Given the description of an element on the screen output the (x, y) to click on. 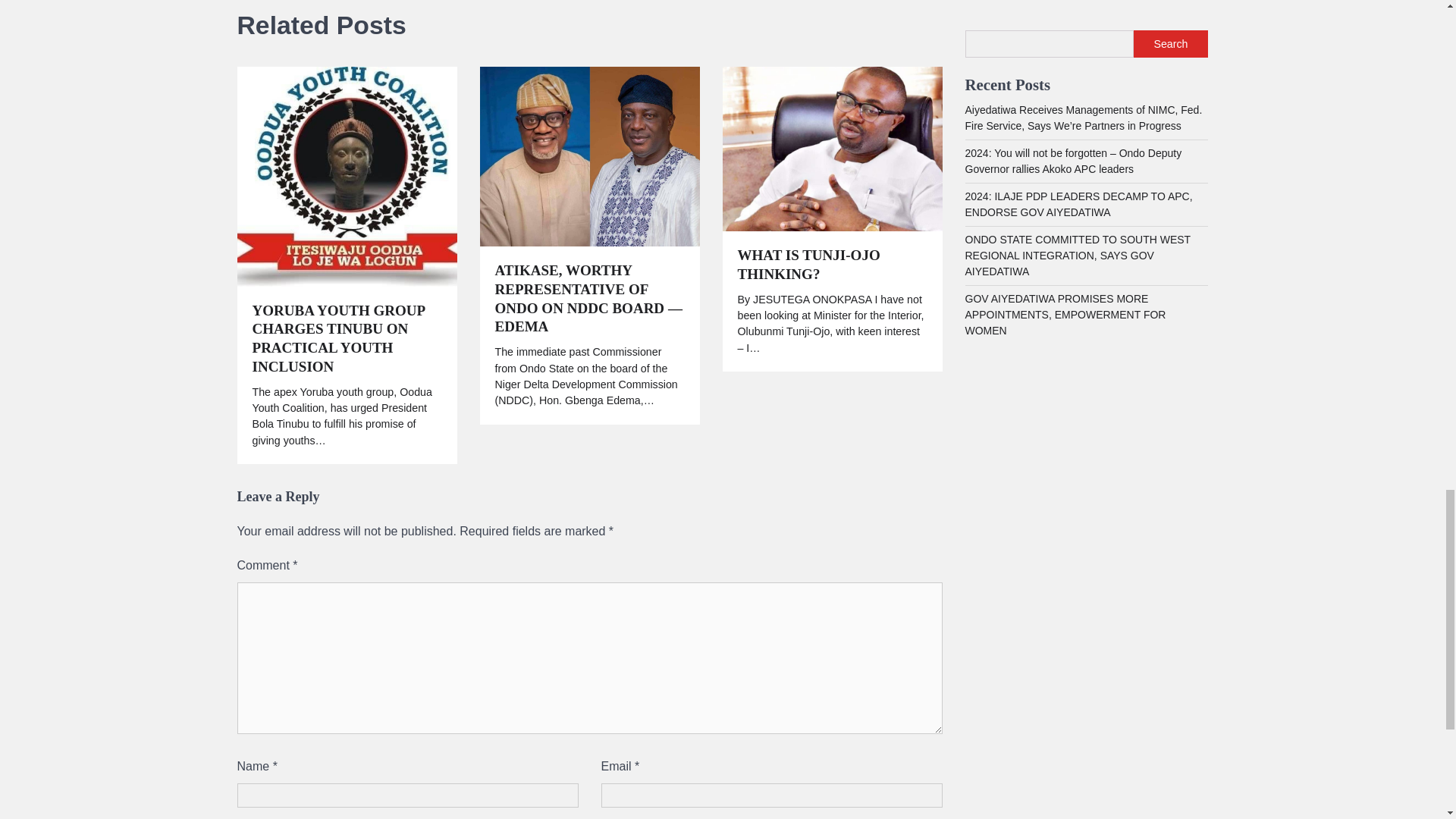
WHAT IS TUNJI-OJO THINKING? (831, 265)
